Given the description of an element on the screen output the (x, y) to click on. 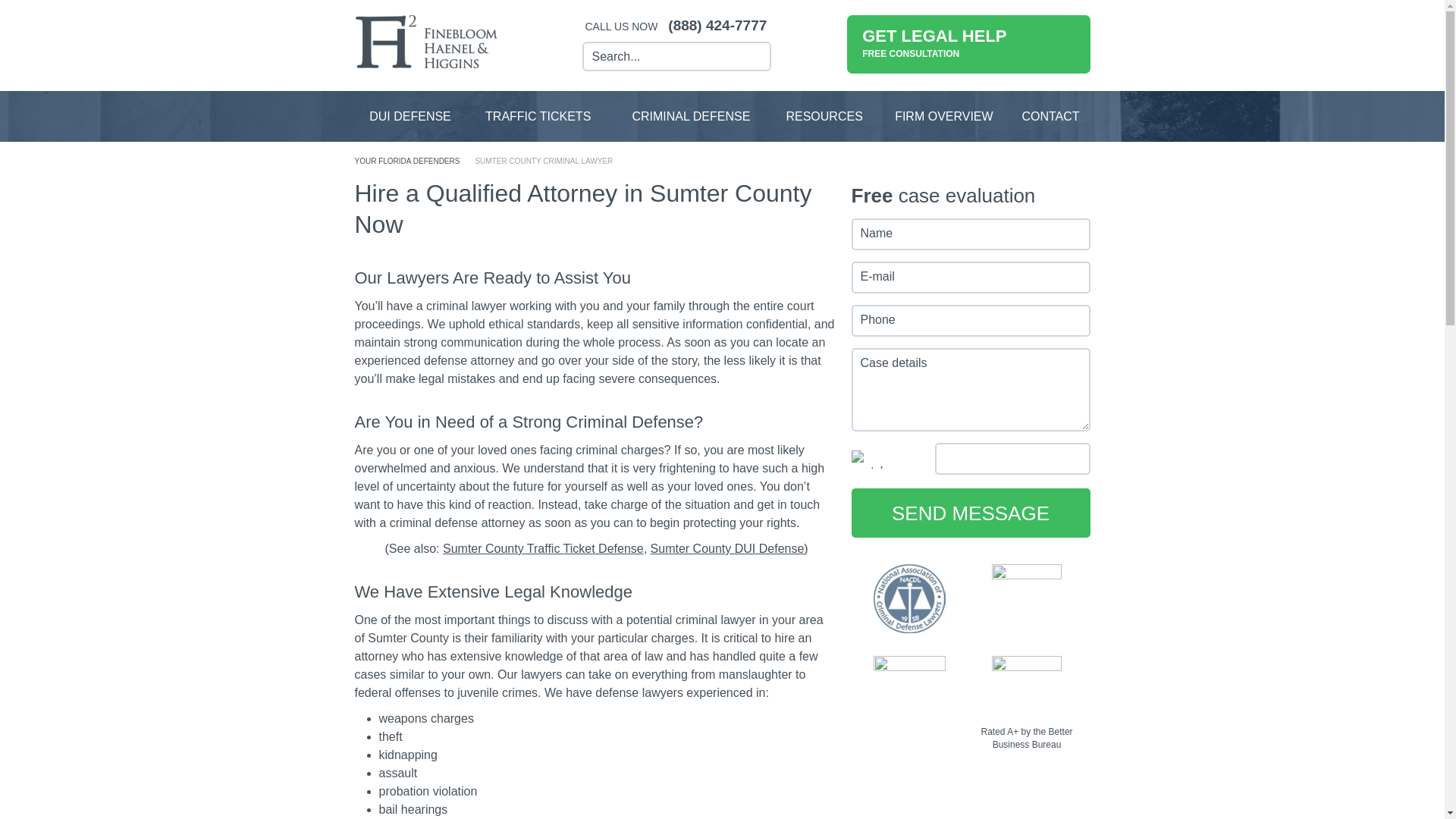
CONTACT (1049, 115)
Send message (969, 512)
DUI DEFENSE (968, 44)
Search... (410, 115)
FIRM OVERVIEW (663, 56)
CRIMINAL DEFENSE (943, 115)
RESOURCES (690, 115)
TRAFFIC TICKETS (824, 115)
Go to Your Florida Defenders. (537, 115)
